Given the description of an element on the screen output the (x, y) to click on. 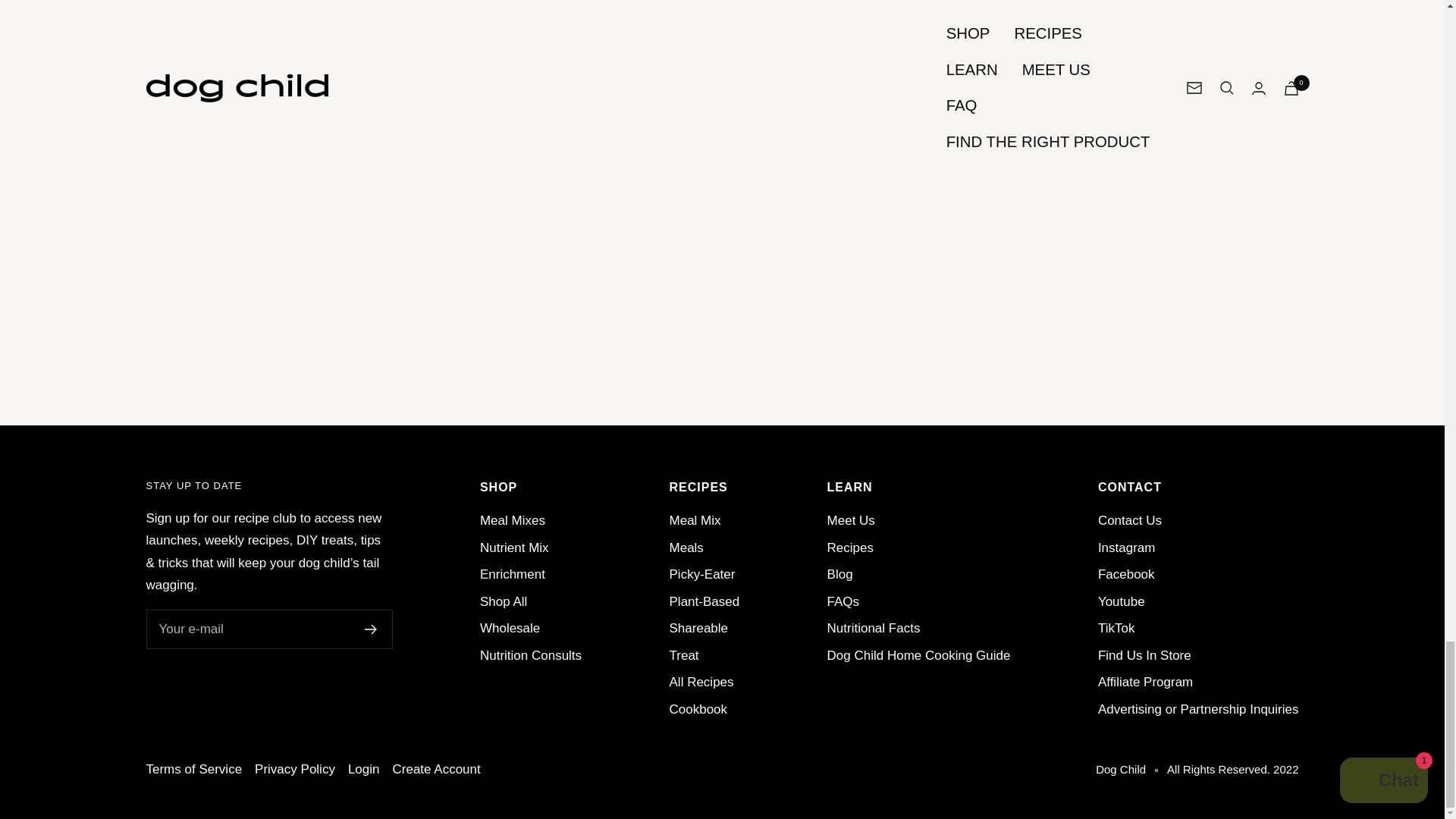
Register (370, 629)
